Given the description of an element on the screen output the (x, y) to click on. 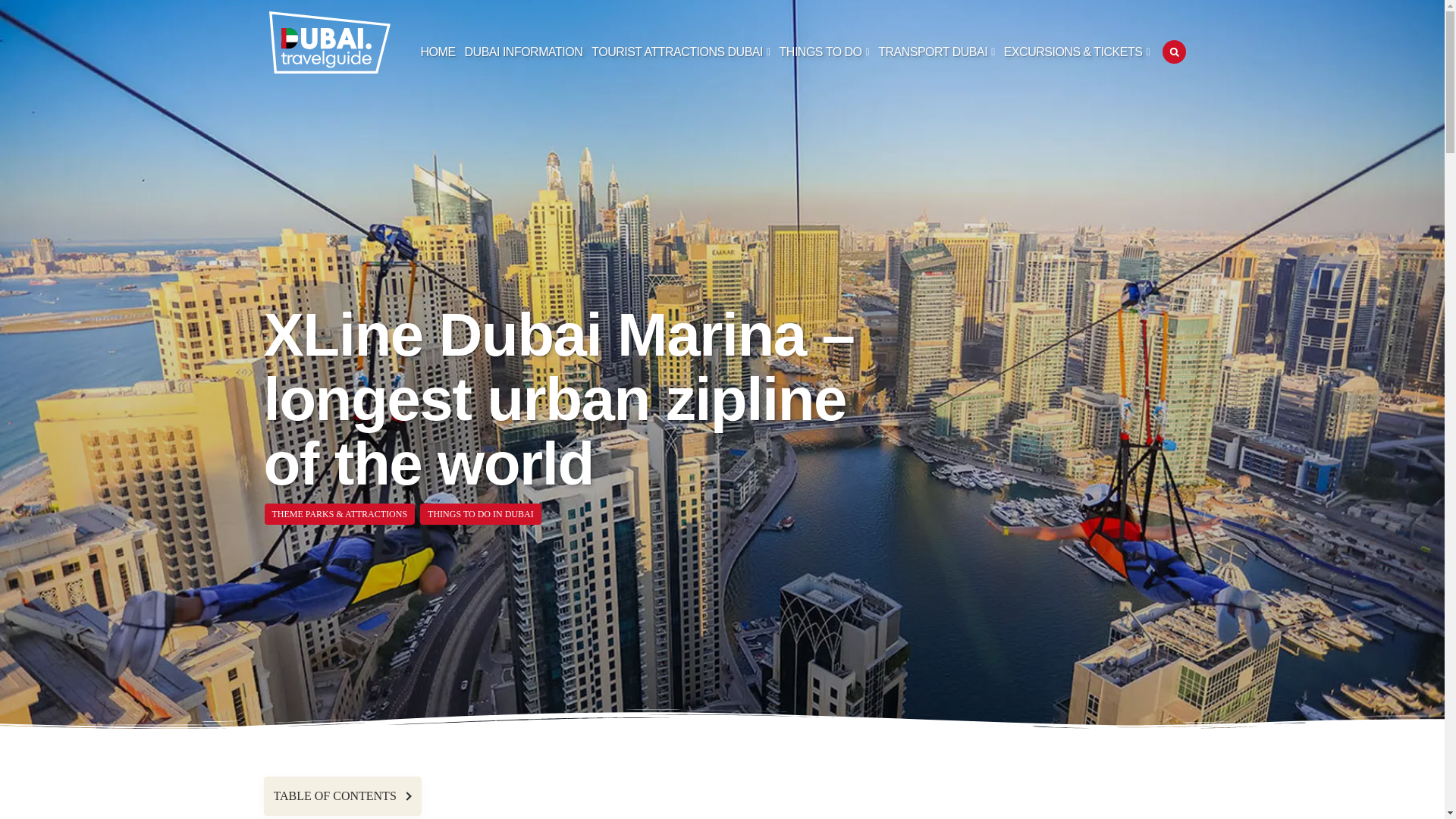
THINGS TO DO (824, 52)
HOME (438, 52)
TOURIST ATTRACTIONS DUBAI (680, 52)
TRANSPORT DUBAI (935, 52)
Advertisement (1032, 797)
DUBAI INFORMATION (524, 52)
